Given the description of an element on the screen output the (x, y) to click on. 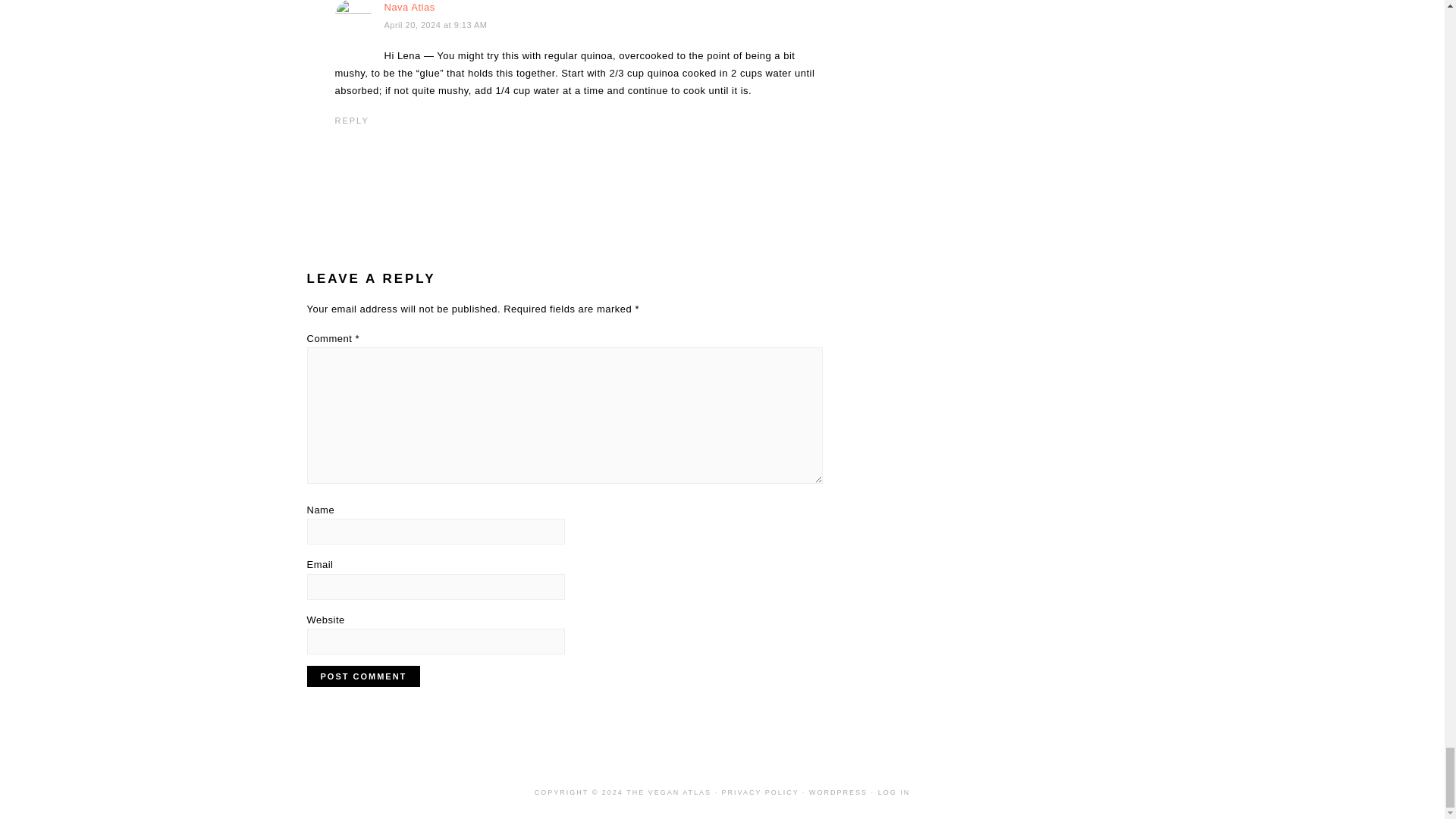
Post Comment (362, 676)
